Given the description of an element on the screen output the (x, y) to click on. 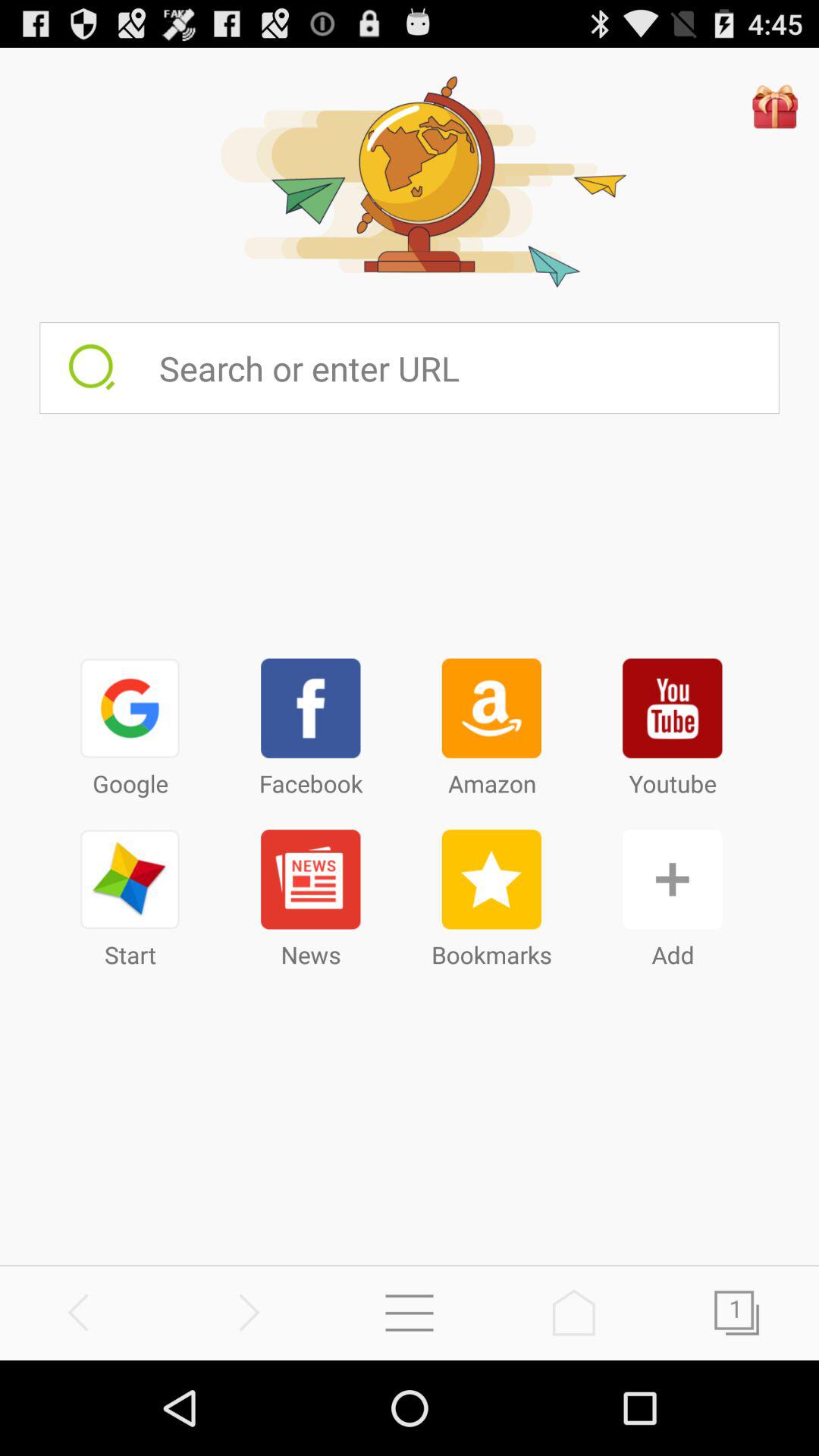
go back (81, 1312)
